Given the description of an element on the screen output the (x, y) to click on. 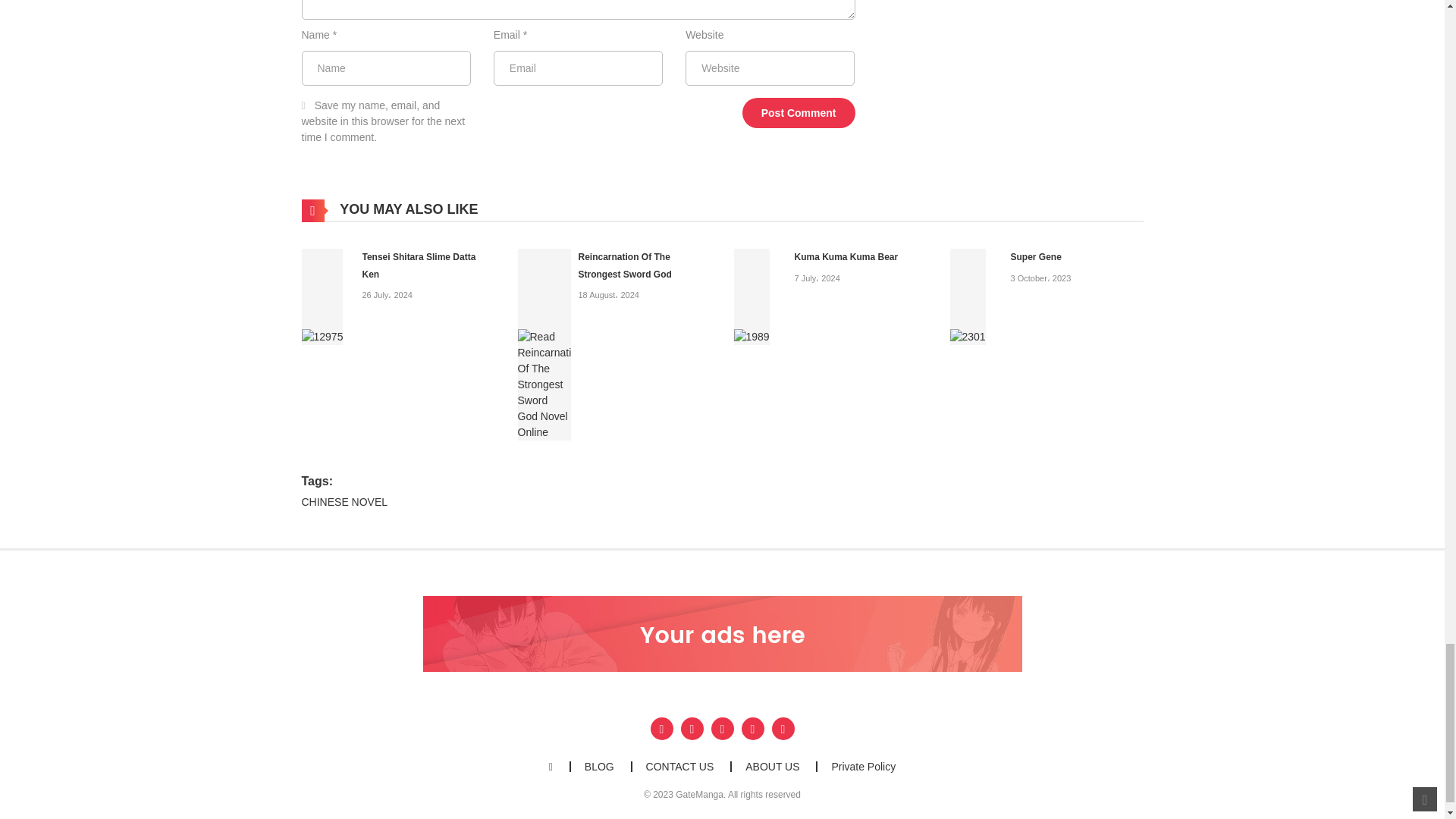
Reincarnation Of The Strongest Sword God (624, 265)
Kuma Kuma Kuma Bear (846, 256)
Super Gene (967, 295)
Tensei Shitara Slime Datta Ken (419, 265)
Post Comment (799, 112)
Kuma Kuma Kuma Bear (751, 295)
Reincarnation Of The Strongest Sword God (543, 343)
Tensei Shitara Slime Datta Ken (322, 295)
